Given the description of an element on the screen output the (x, y) to click on. 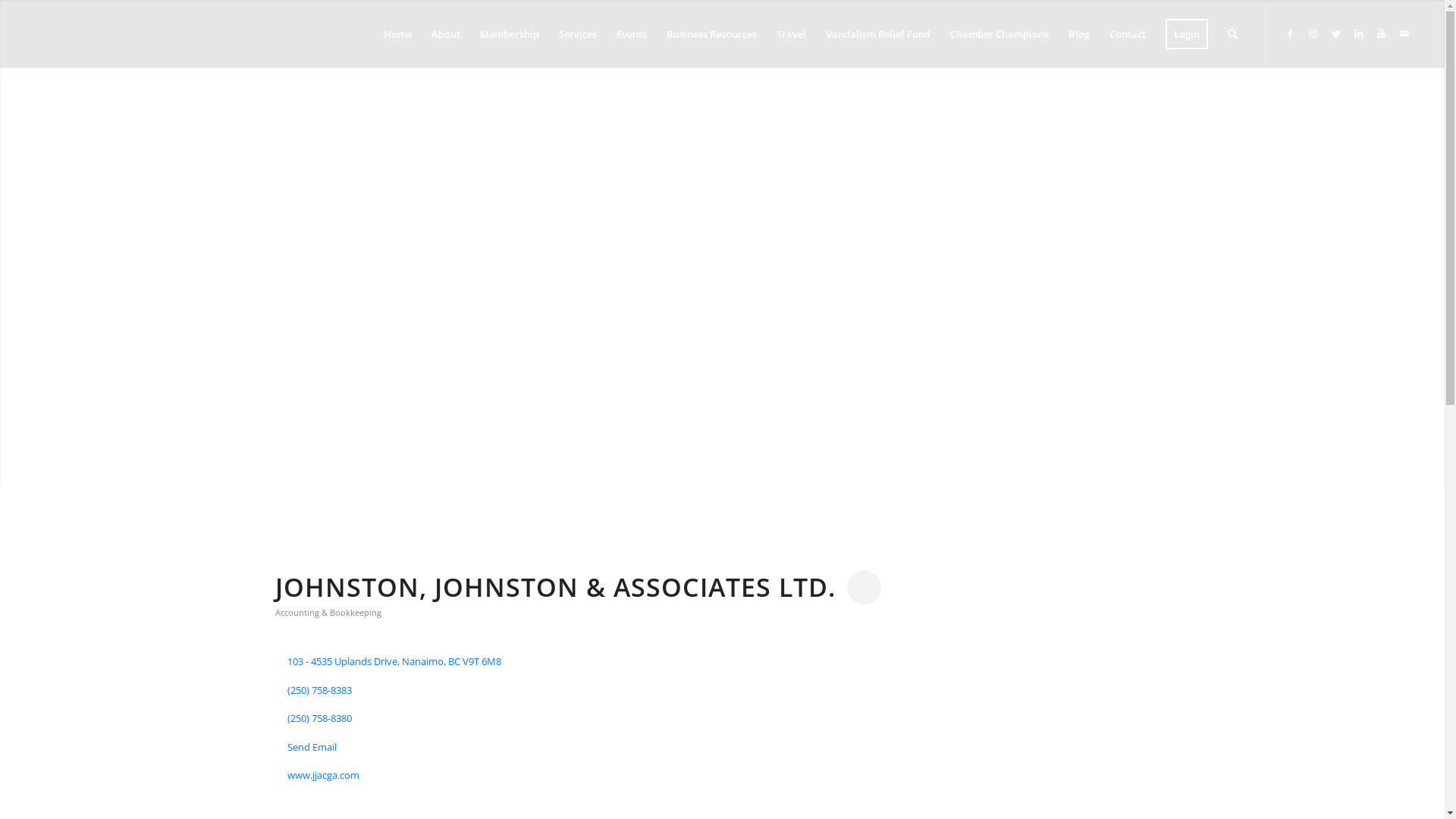
www.jjacga.com Element type: text (323, 775)
Mail Element type: hover (1404, 32)
Vandalism Relief Fund Element type: text (877, 33)
Membership Element type: text (509, 33)
103 - 4535 Uplands Drive Nanaimo BC V9T 6M8 Element type: text (394, 661)
Blog Element type: text (1078, 33)
Login Element type: text (1186, 33)
Twitter Element type: hover (1335, 32)
(250) 758-8380 Element type: text (319, 718)
Send Email Element type: text (311, 747)
Business Resources Element type: text (711, 33)
Youtube Element type: hover (1381, 32)
Contact Element type: text (1127, 33)
Home Element type: text (397, 33)
(250) 758-8383 Element type: text (319, 690)
Services Element type: text (577, 33)
Travel Element type: text (790, 33)
Facebook Element type: hover (1290, 32)
Events Element type: text (631, 33)
LinkedIn Element type: hover (1358, 32)
About Element type: text (445, 33)
Instagram Element type: hover (1313, 32)
Chamber Champions Element type: text (999, 33)
